Given the description of an element on the screen output the (x, y) to click on. 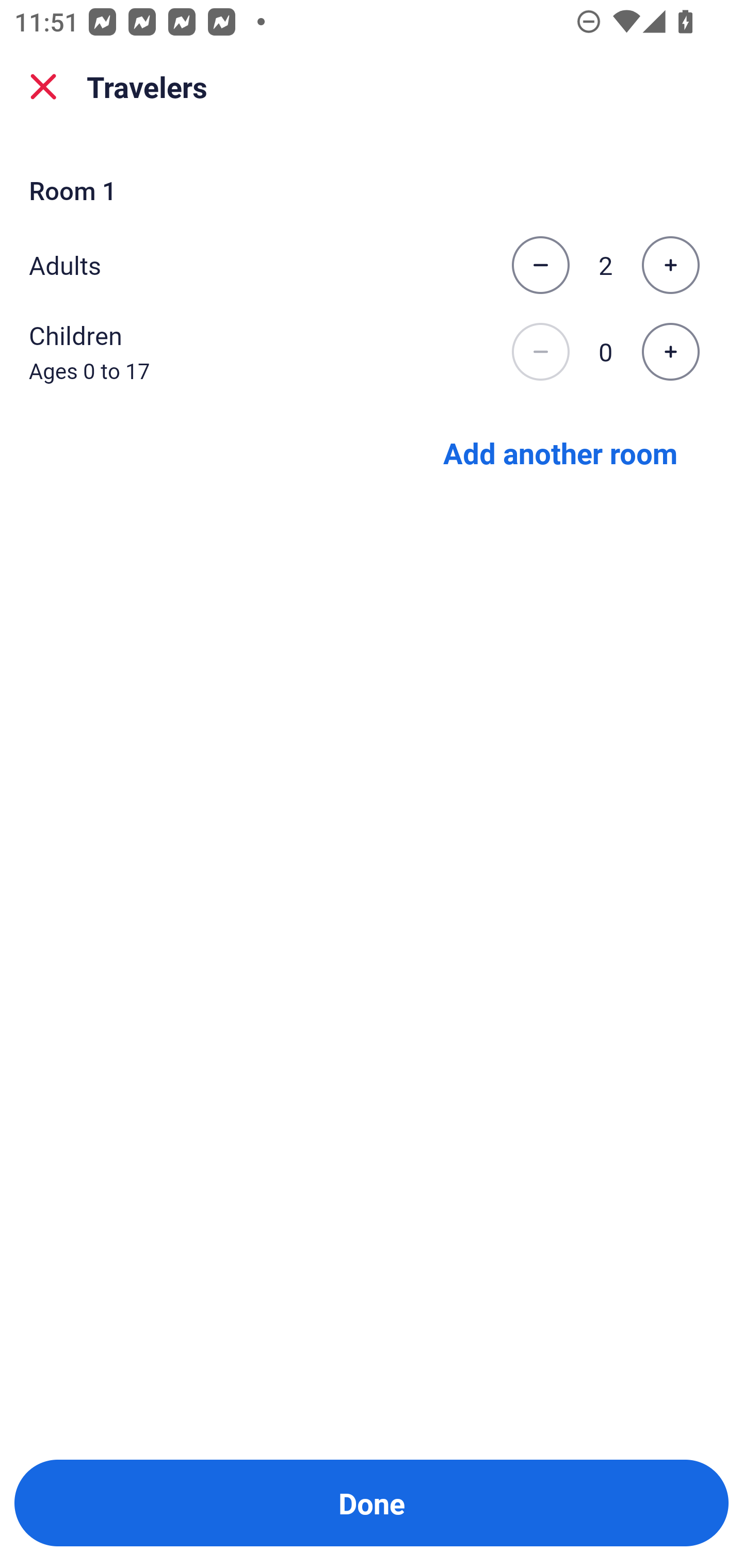
close (43, 86)
Decrease the number of adults (540, 264)
Increase the number of adults (670, 264)
Decrease the number of children (540, 351)
Increase the number of children (670, 351)
Add another room (560, 452)
Done (371, 1502)
